Given the description of an element on the screen output the (x, y) to click on. 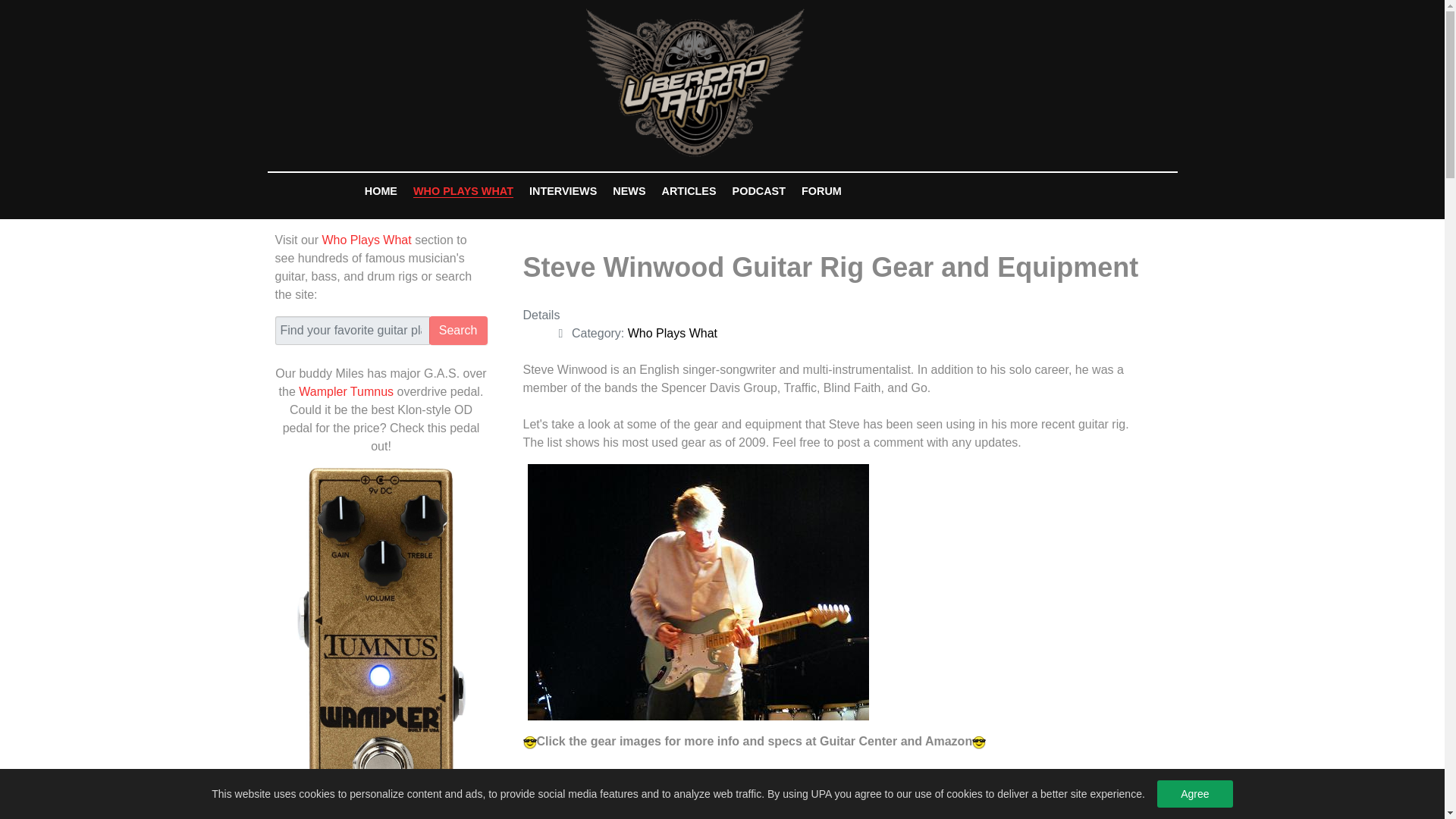
HOME (380, 190)
Wampler Tumnus (345, 391)
Search (458, 330)
ARTICLES (689, 190)
Who Plays What music gear (365, 239)
WHO PLAYS WHAT (463, 190)
INTERVIEWS (562, 190)
PODCAST (758, 190)
Image by sjrowe53. Creative Commons licensed from flickr (698, 592)
Who Plays What (365, 239)
Cool (978, 742)
Cool (529, 742)
Who Plays What (672, 332)
FORUM (821, 190)
NEWS (628, 190)
